Given the description of an element on the screen output the (x, y) to click on. 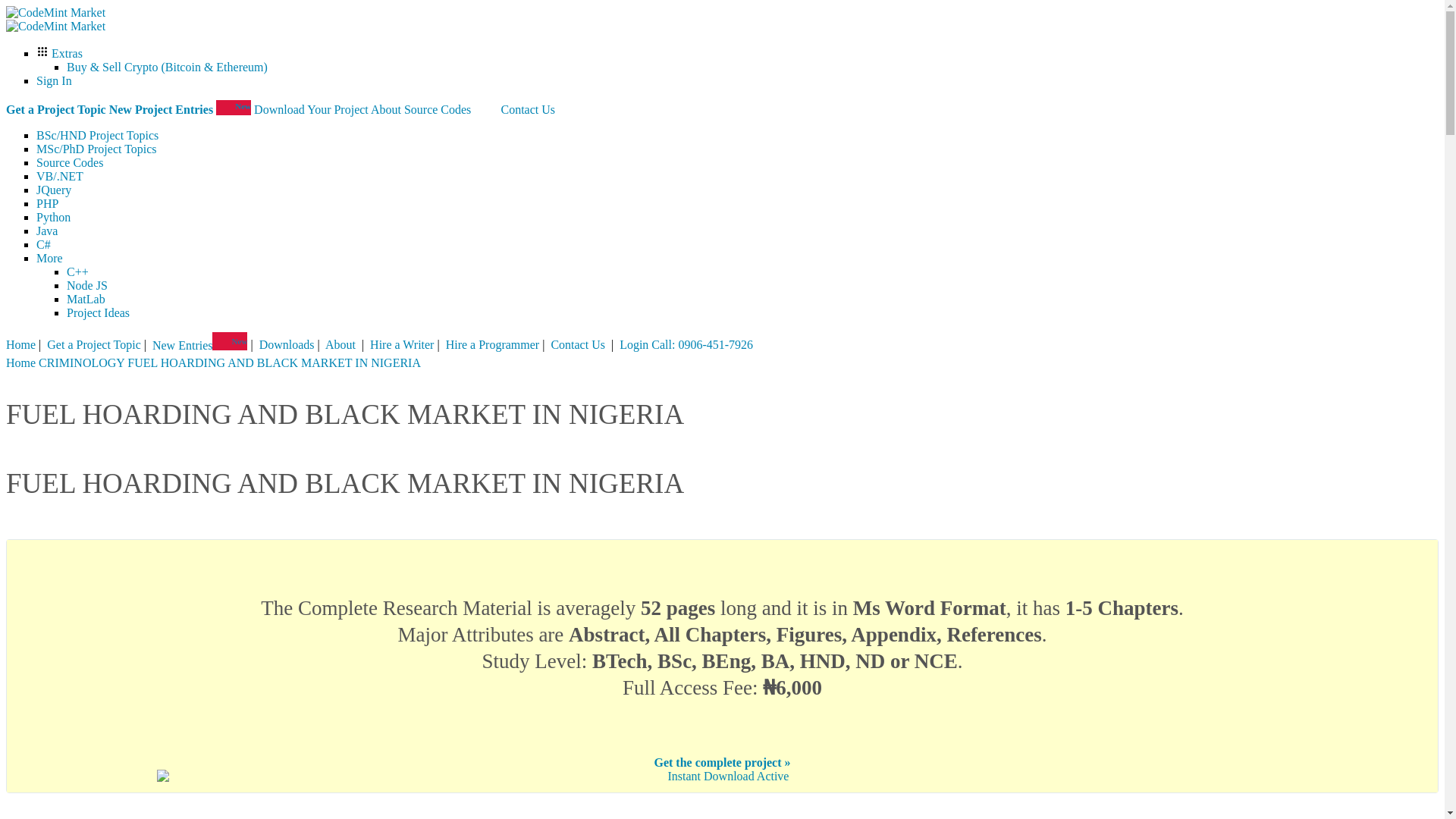
Home (19, 345)
Python (52, 216)
Login (633, 345)
New EntriesNew (199, 345)
About (341, 345)
Home (19, 362)
Learn More About Us at CodeMint (386, 109)
More (49, 257)
Contact Us (577, 345)
Contact Us (527, 109)
JQuery (53, 189)
Downloads (286, 345)
Blog (485, 109)
Hire a Programmer (492, 345)
Get a Project Topic (55, 109)
